Given the description of an element on the screen output the (x, y) to click on. 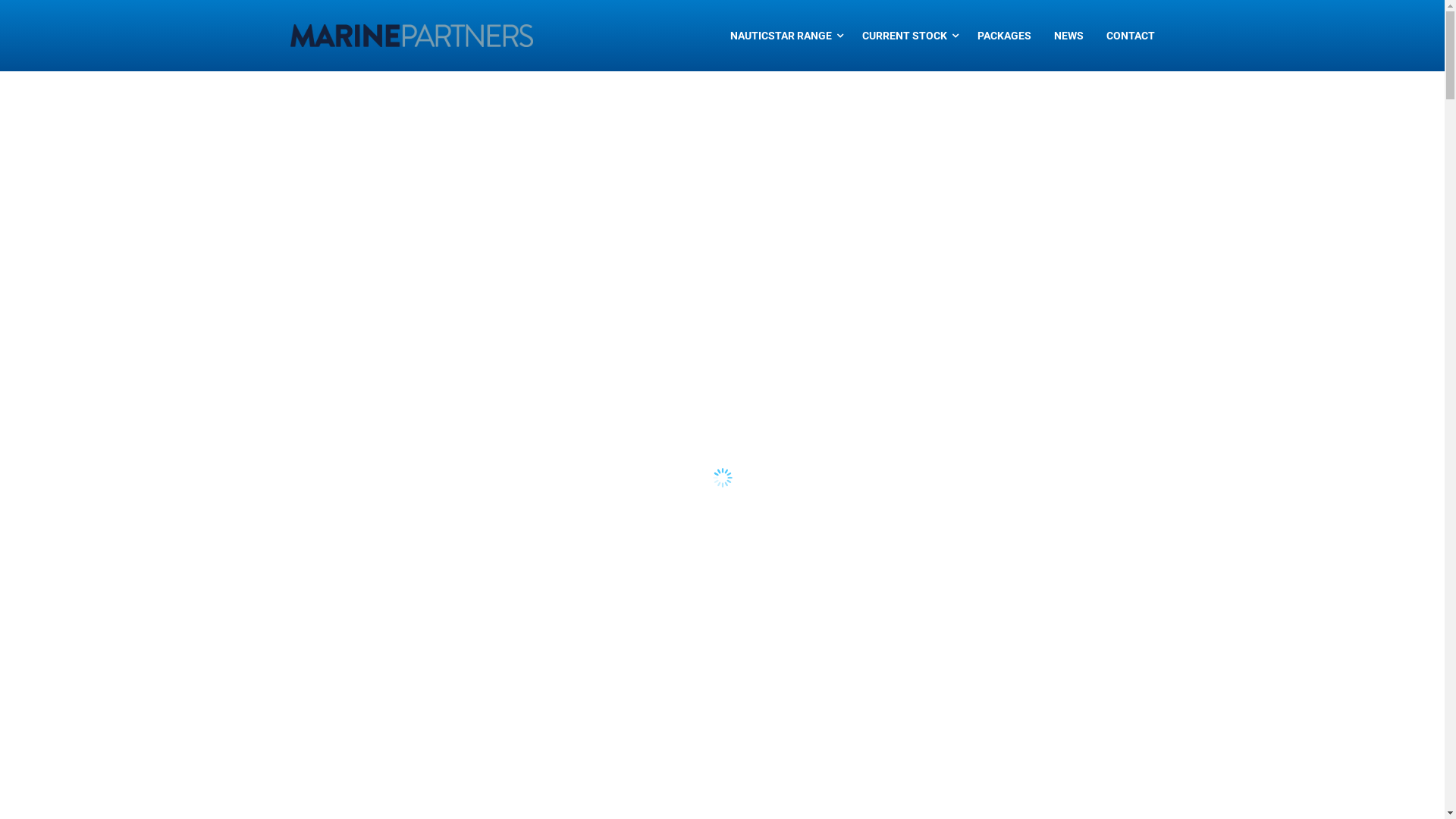
PACKAGES Element type: text (1004, 35)
CONTACT Element type: text (1130, 35)
CURRENT STOCK Element type: text (899, 35)
NEWS Element type: text (1067, 35)
NAUTICSTAR RANGE Element type: text (776, 35)
